Given the description of an element on the screen output the (x, y) to click on. 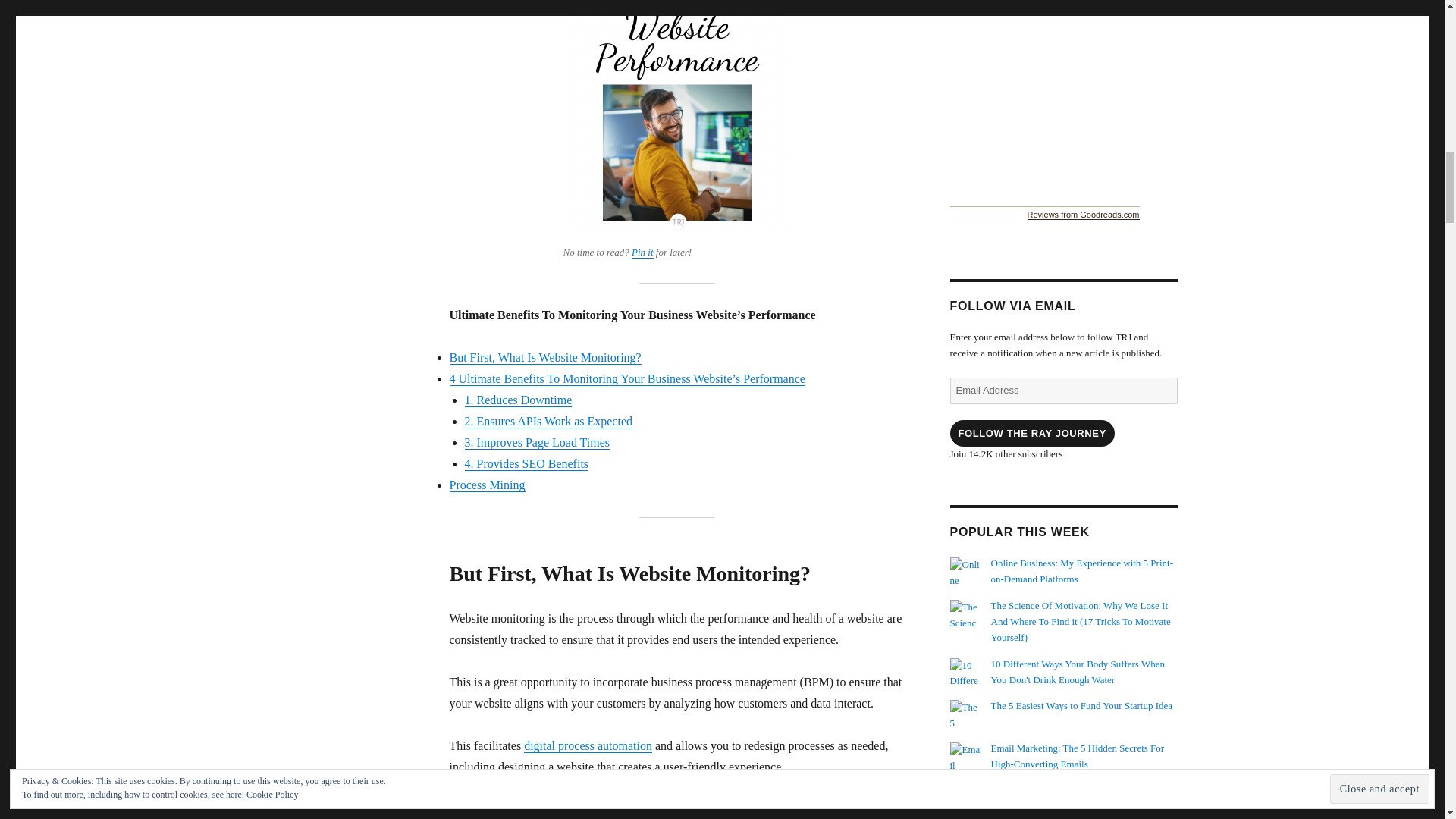
4. Provides SEO Benefits (526, 463)
Pin it (642, 251)
3. Improves Page Load Times (537, 441)
But First, What Is Website Monitoring? (544, 357)
Process Mining (486, 484)
1. Reduces Downtime (518, 399)
2. Ensures APIs Work as Expected (547, 420)
